Given the description of an element on the screen output the (x, y) to click on. 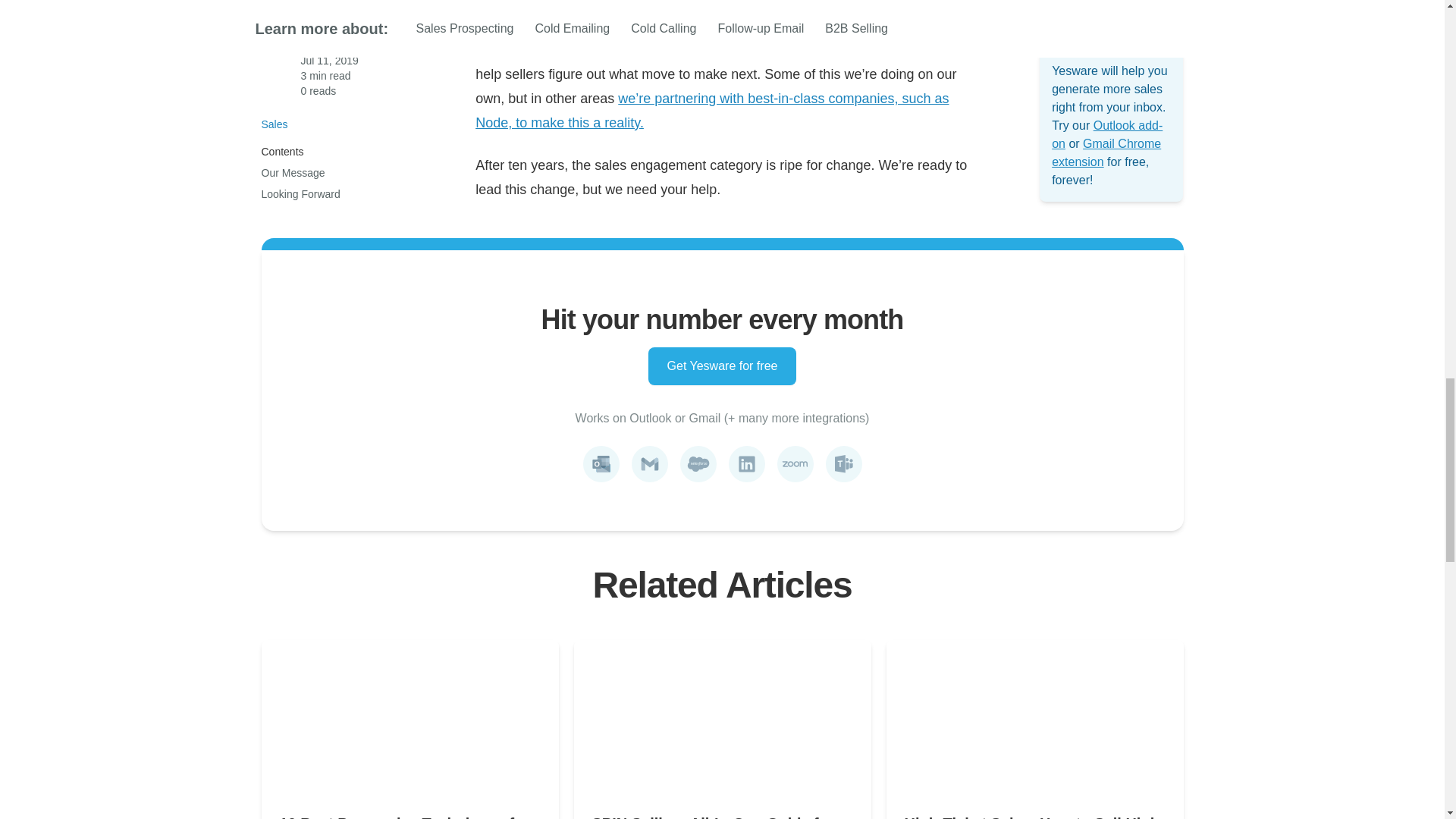
SPIN Selling: All-In-One Guide for 2022 (721, 816)
Get Yesware for free (721, 365)
